Given the description of an element on the screen output the (x, y) to click on. 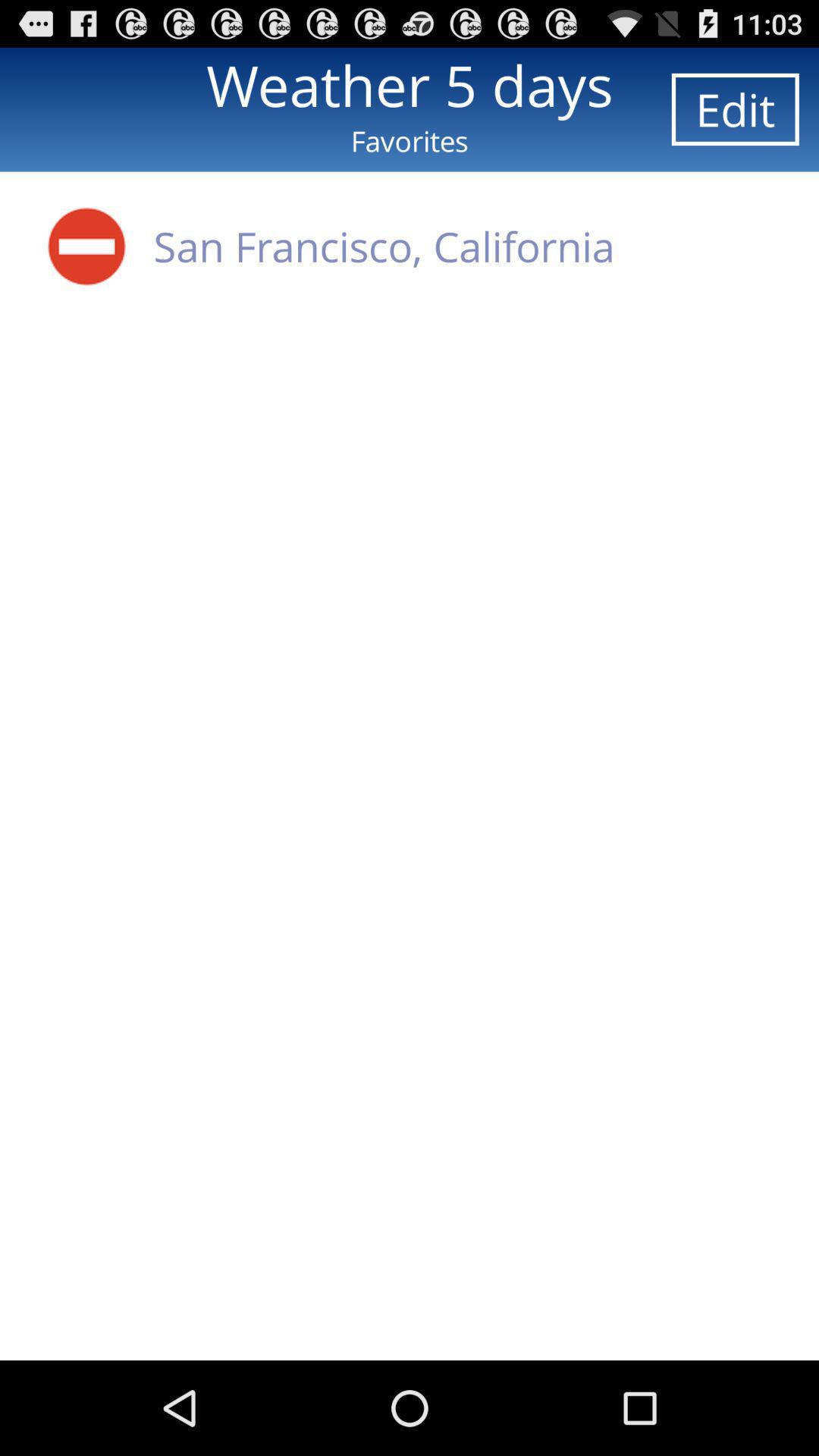
tap icon to the right of the aa app (383, 245)
